Given the description of an element on the screen output the (x, y) to click on. 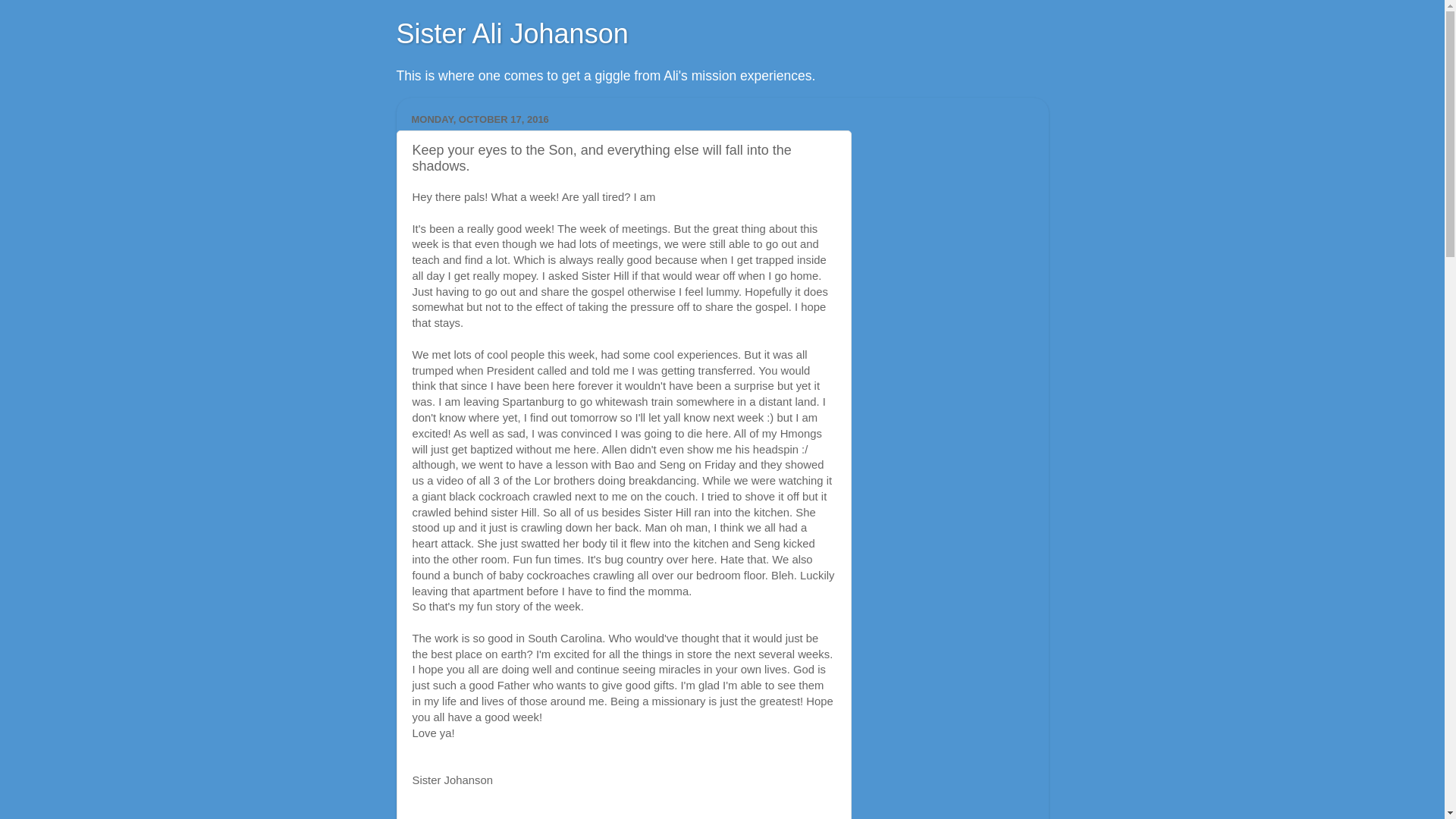
Sister Ali Johanson (511, 33)
